Given the description of an element on the screen output the (x, y) to click on. 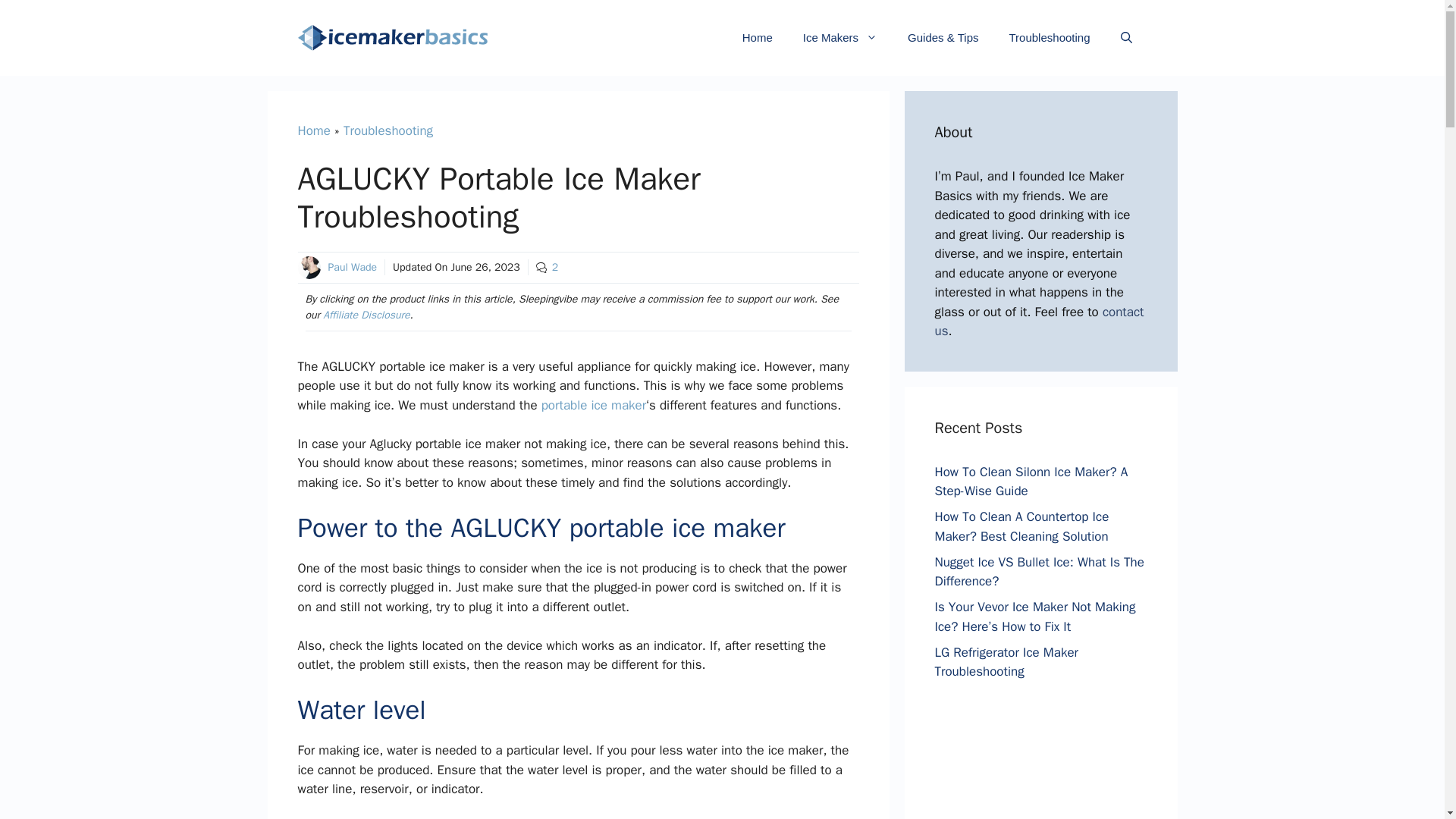
Home (313, 130)
Ice Makers (839, 37)
portable ice maker (593, 405)
Paul Wade (352, 267)
Home (756, 37)
Affiliate Disclosure (366, 314)
Troubleshooting (1048, 37)
Troubleshooting (387, 130)
